Given the description of an element on the screen output the (x, y) to click on. 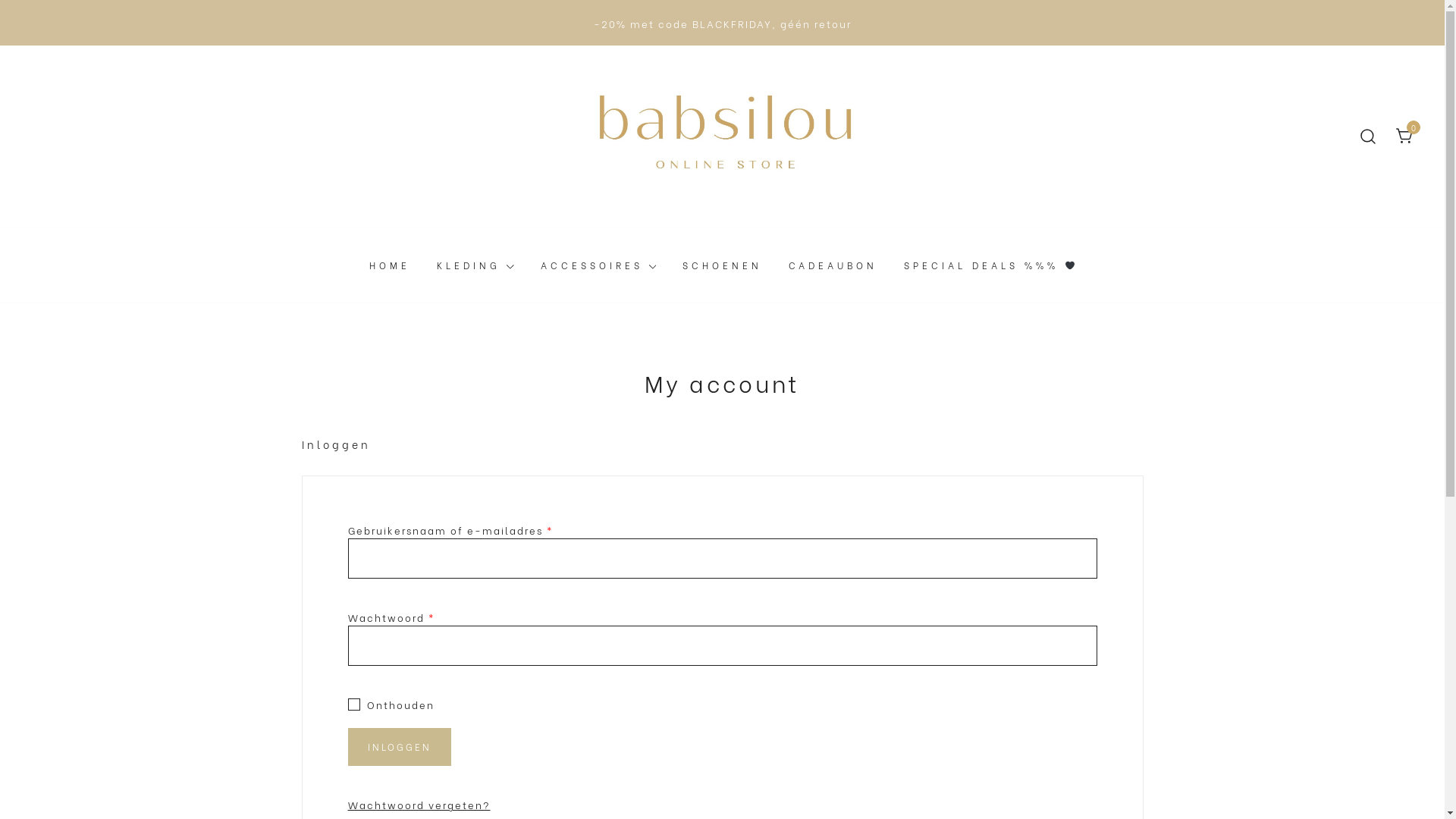
HOME Element type: text (389, 264)
CADEAUBON Element type: text (832, 264)
ACCESSOIRES Element type: text (591, 264)
INLOGGEN Element type: text (398, 746)
Wachtwoord vergeten? Element type: text (418, 804)
0 Element type: text (1405, 133)
SPECIAL DEALS %%% Element type: text (989, 264)
KLEDING Element type: text (468, 264)
Zoek naar een product Element type: hover (1367, 136)
SCHOENEN Element type: text (722, 264)
Babsilou Element type: text (609, 246)
